Given the description of an element on the screen output the (x, y) to click on. 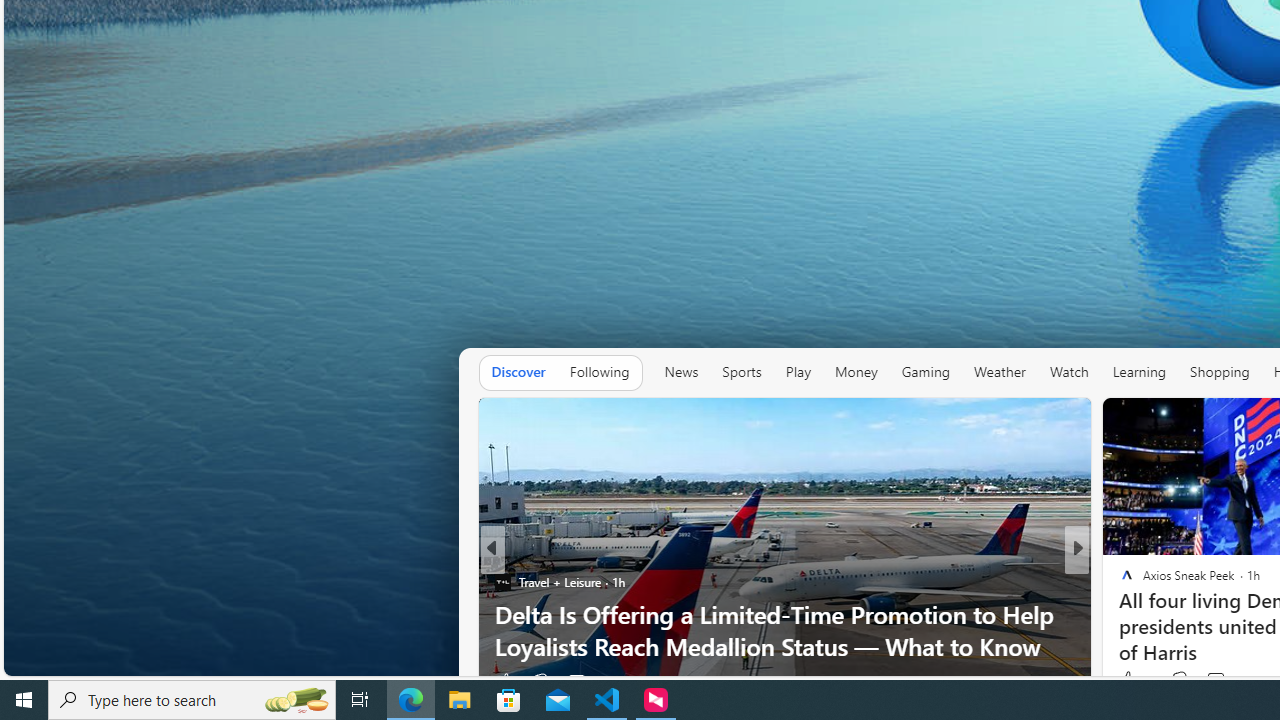
Fadeaway World (1117, 581)
View comments 2 Comment (1209, 681)
View comments 42 Comment (1217, 681)
Travel + Leisure (502, 581)
View comments 25 Comment (1208, 681)
Gaming (925, 371)
Fortune (1117, 614)
View comments 42 Comment (1209, 681)
View comments 31 Comment (1215, 681)
